Given the description of an element on the screen output the (x, y) to click on. 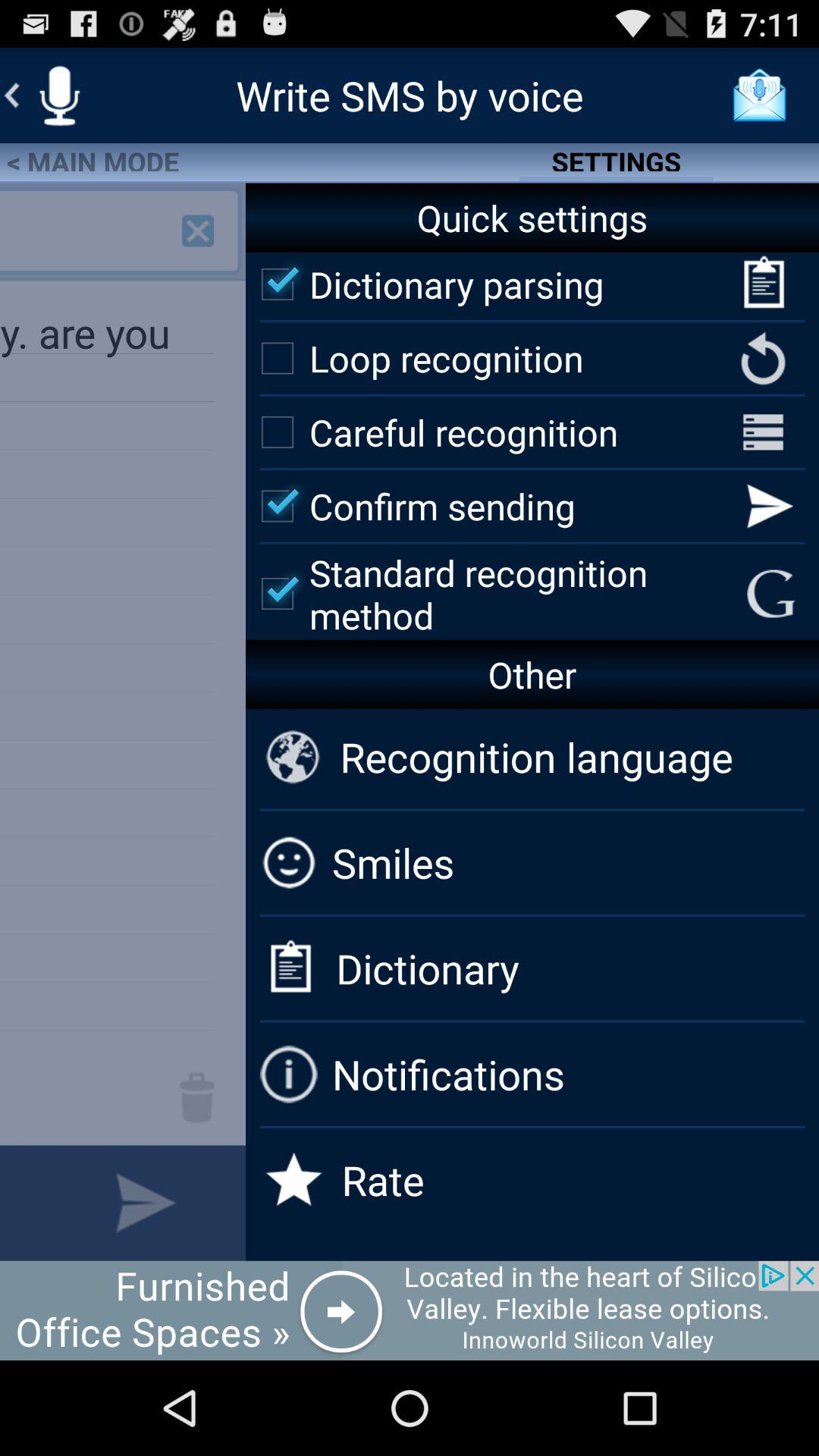
select advertisement (409, 1310)
